Given the description of an element on the screen output the (x, y) to click on. 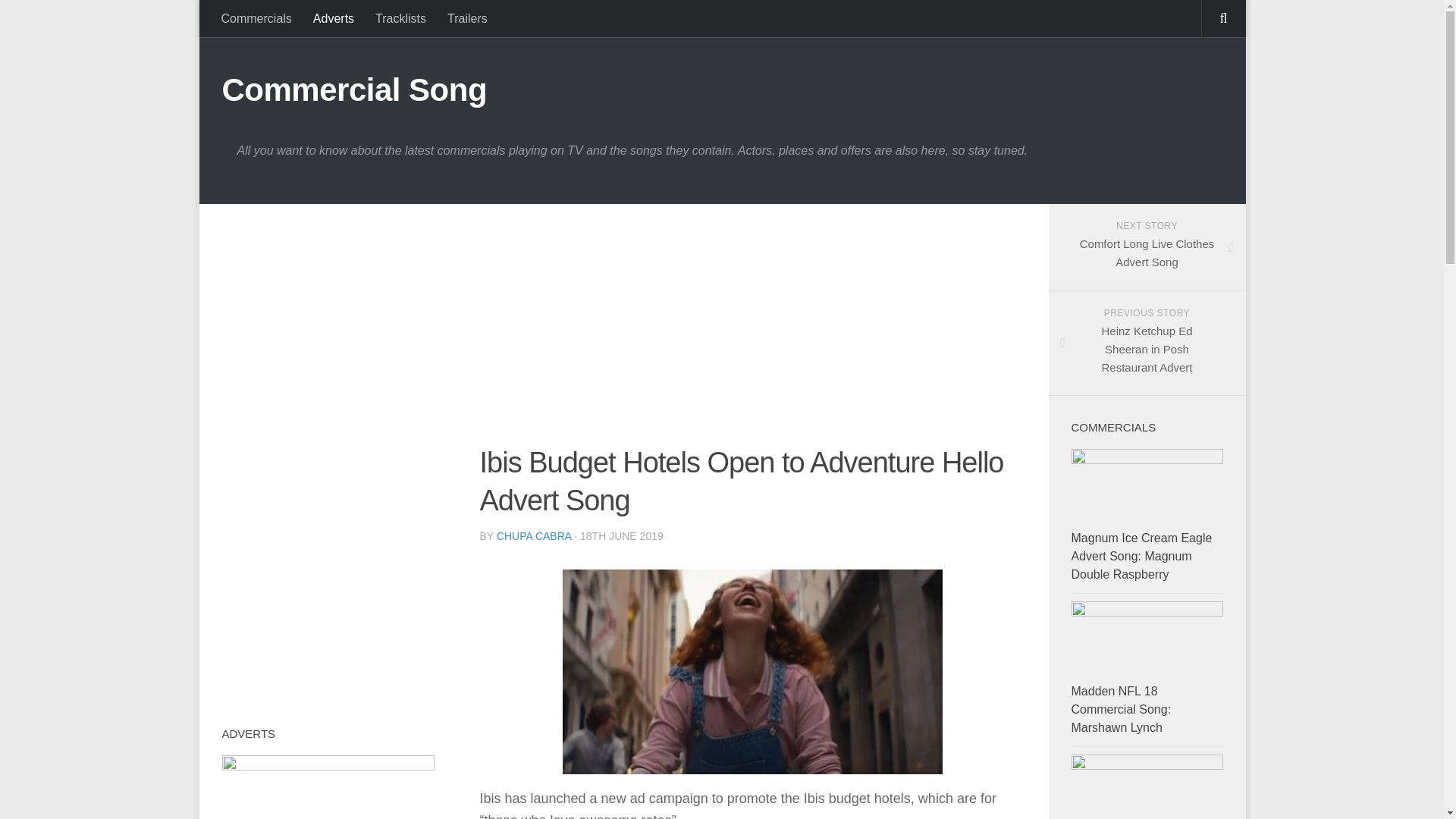
Magnum Ice Cream Eagle Advert Song: Magnum Double Raspberry (1146, 247)
Trailers (1140, 555)
Tracklists (466, 18)
CHUPA CABRA (400, 18)
Commercials (534, 535)
Posts by Chupa Cabra (256, 18)
Adverts (534, 535)
Commercial Song (333, 18)
